Given the description of an element on the screen output the (x, y) to click on. 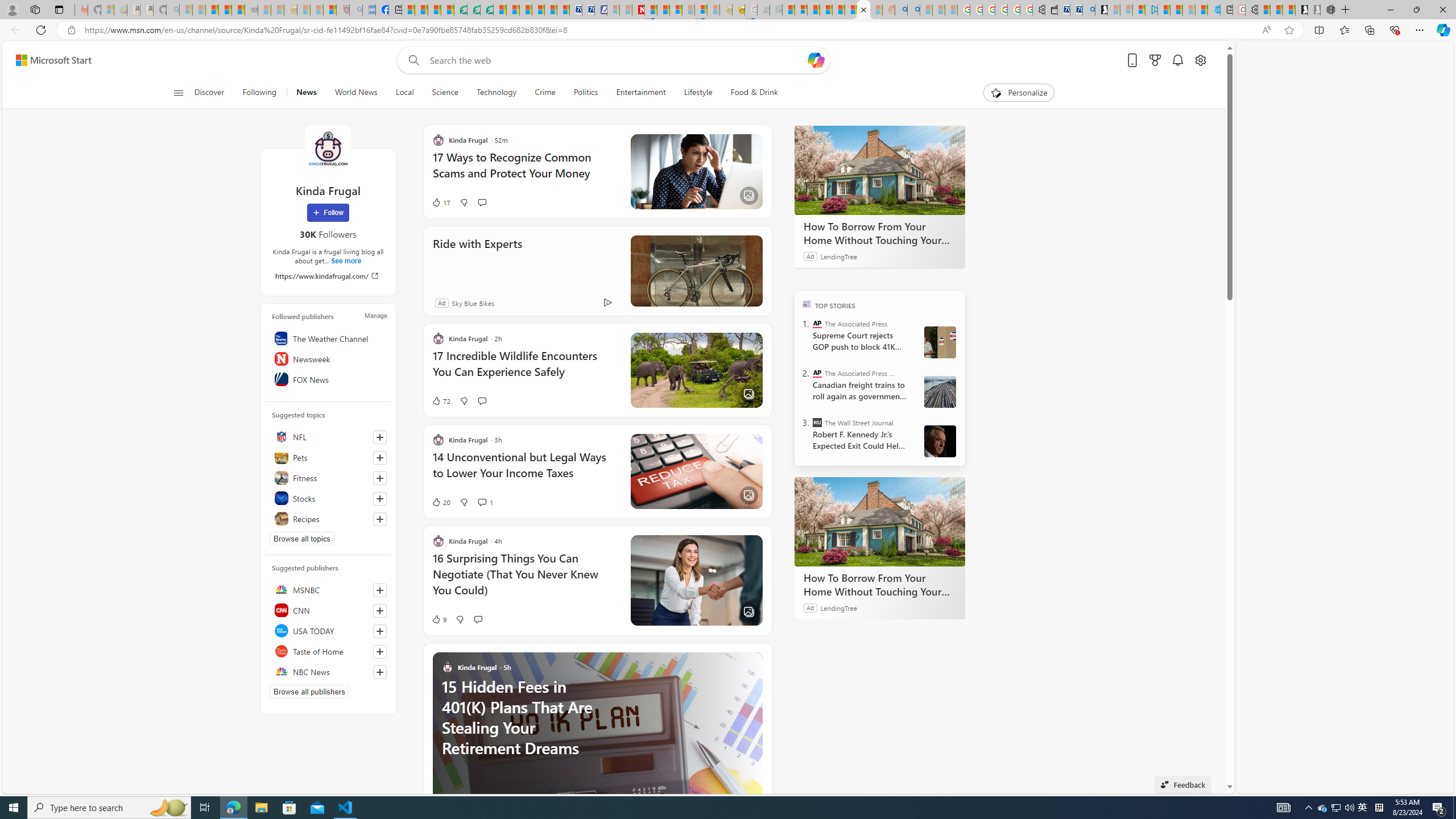
Ride with ExpertsAdSky Blue Bikes (596, 271)
 Canada Railroads Unions (940, 391)
Newsweek (327, 358)
MSNBC - MSN (788, 9)
Microsoft account | Privacy (1139, 9)
Terms of Use Agreement (473, 9)
Crime (544, 92)
Discover (213, 92)
Discover (208, 92)
Following (258, 92)
